Given the description of an element on the screen output the (x, y) to click on. 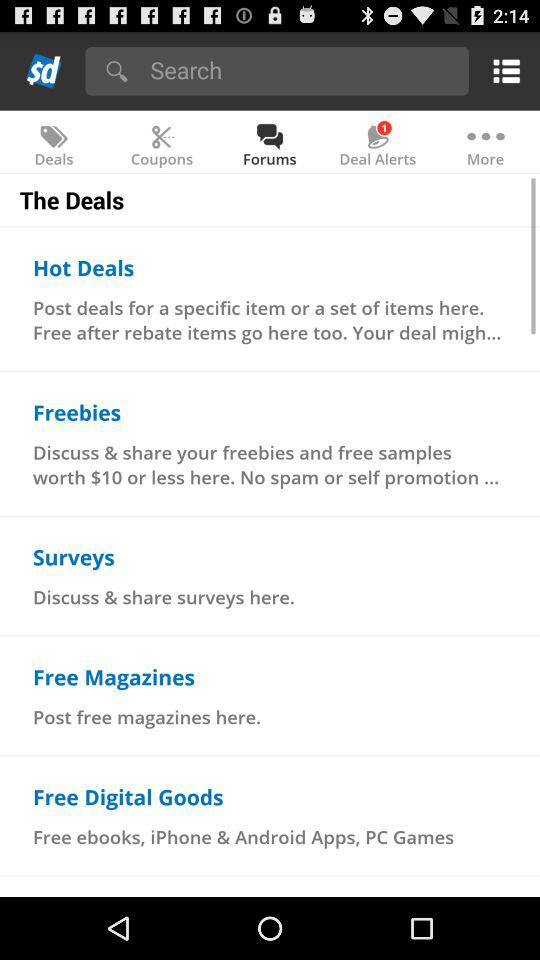
jump to the post deals for app (270, 319)
